Given the description of an element on the screen output the (x, y) to click on. 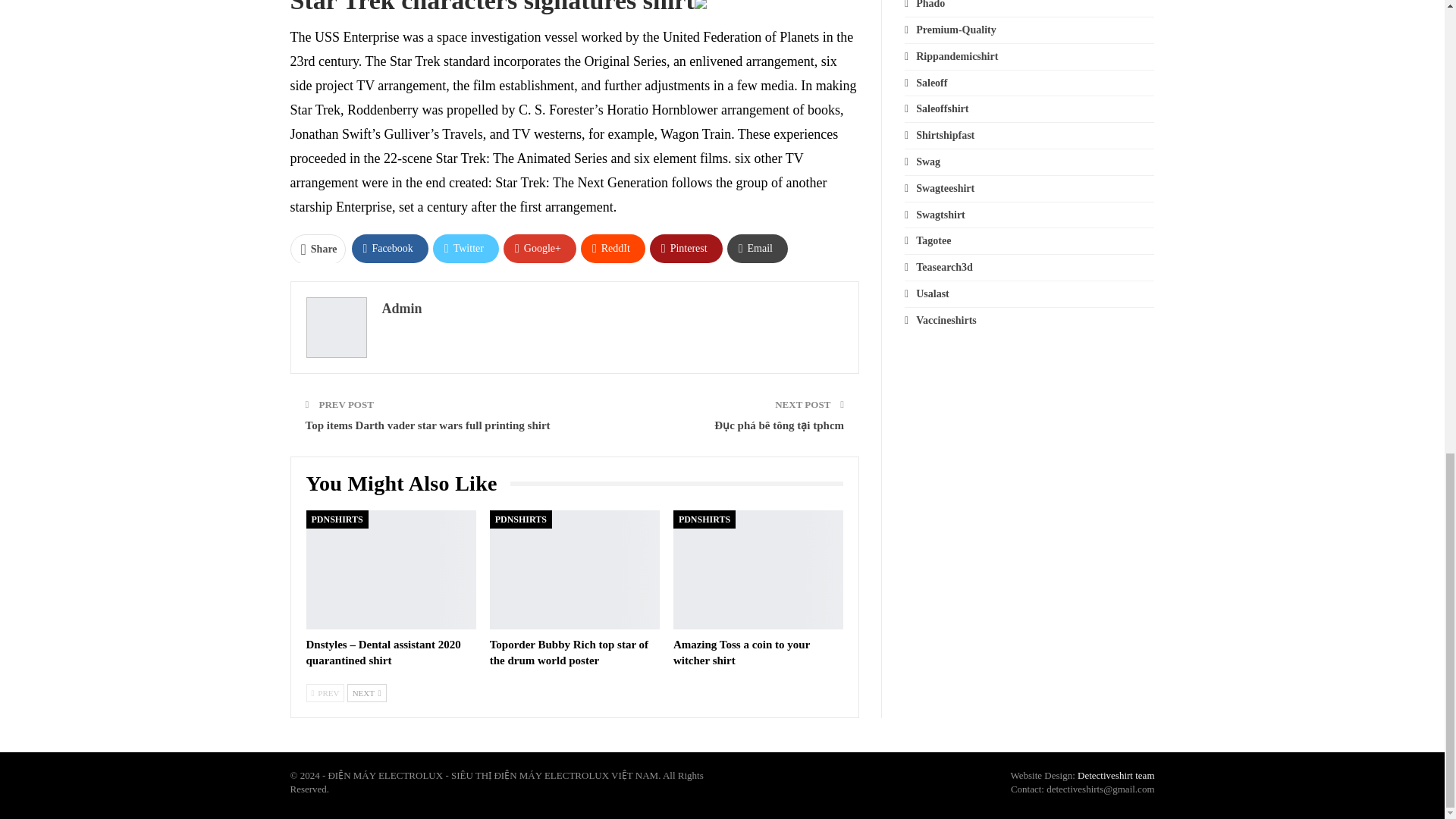
Admin (401, 308)
Previous (325, 692)
Twitter (465, 248)
ReddIt (612, 248)
Next (367, 692)
Amazing Toss a coin to your witcher shirt (757, 569)
Toporder Bubby Rich top star of the drum world poster (574, 569)
Facebook (390, 248)
PDNSHIRTS (520, 519)
PDNSHIRTS (336, 519)
